Given the description of an element on the screen output the (x, y) to click on. 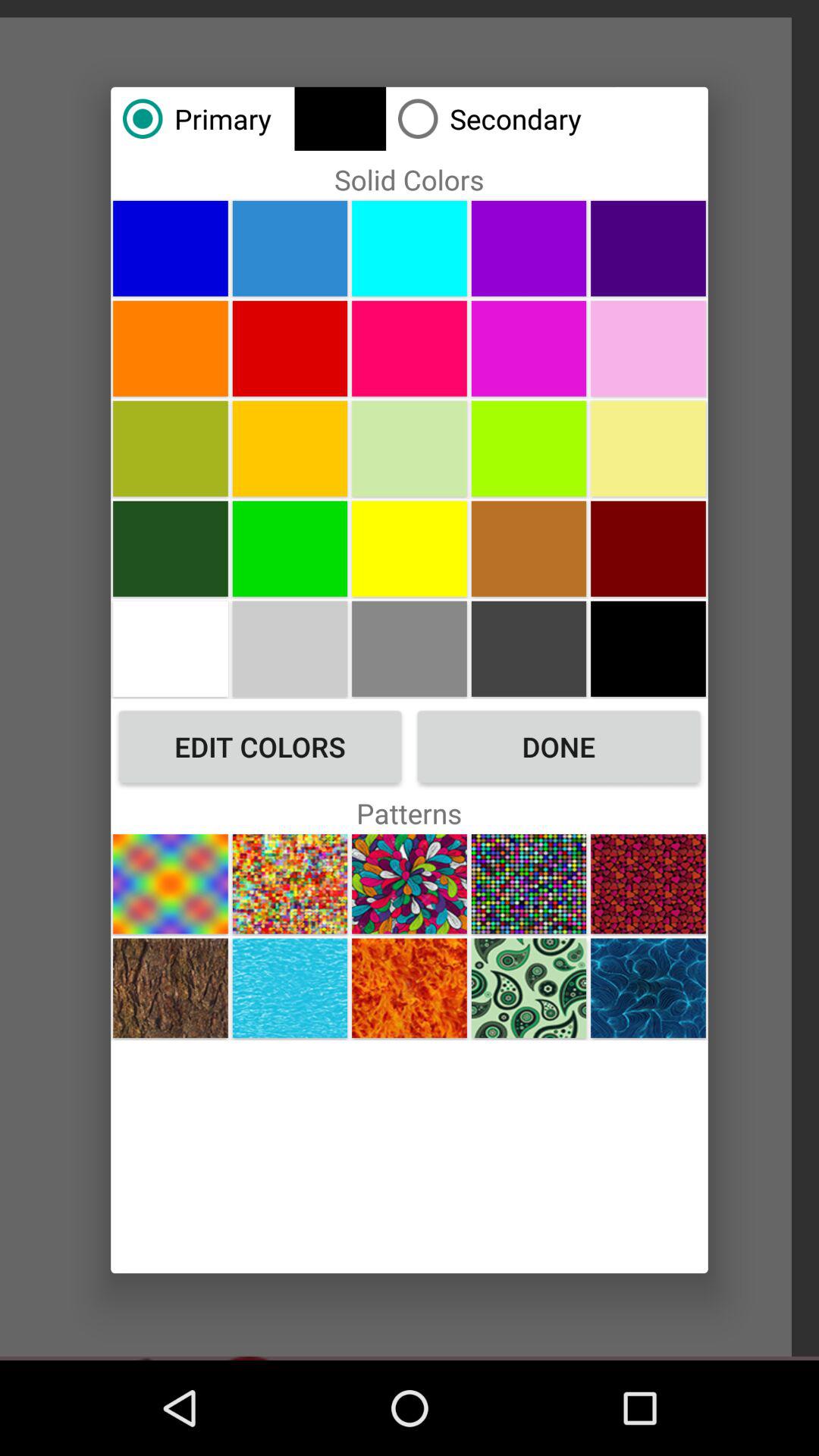
choose color (170, 548)
